Given the description of an element on the screen output the (x, y) to click on. 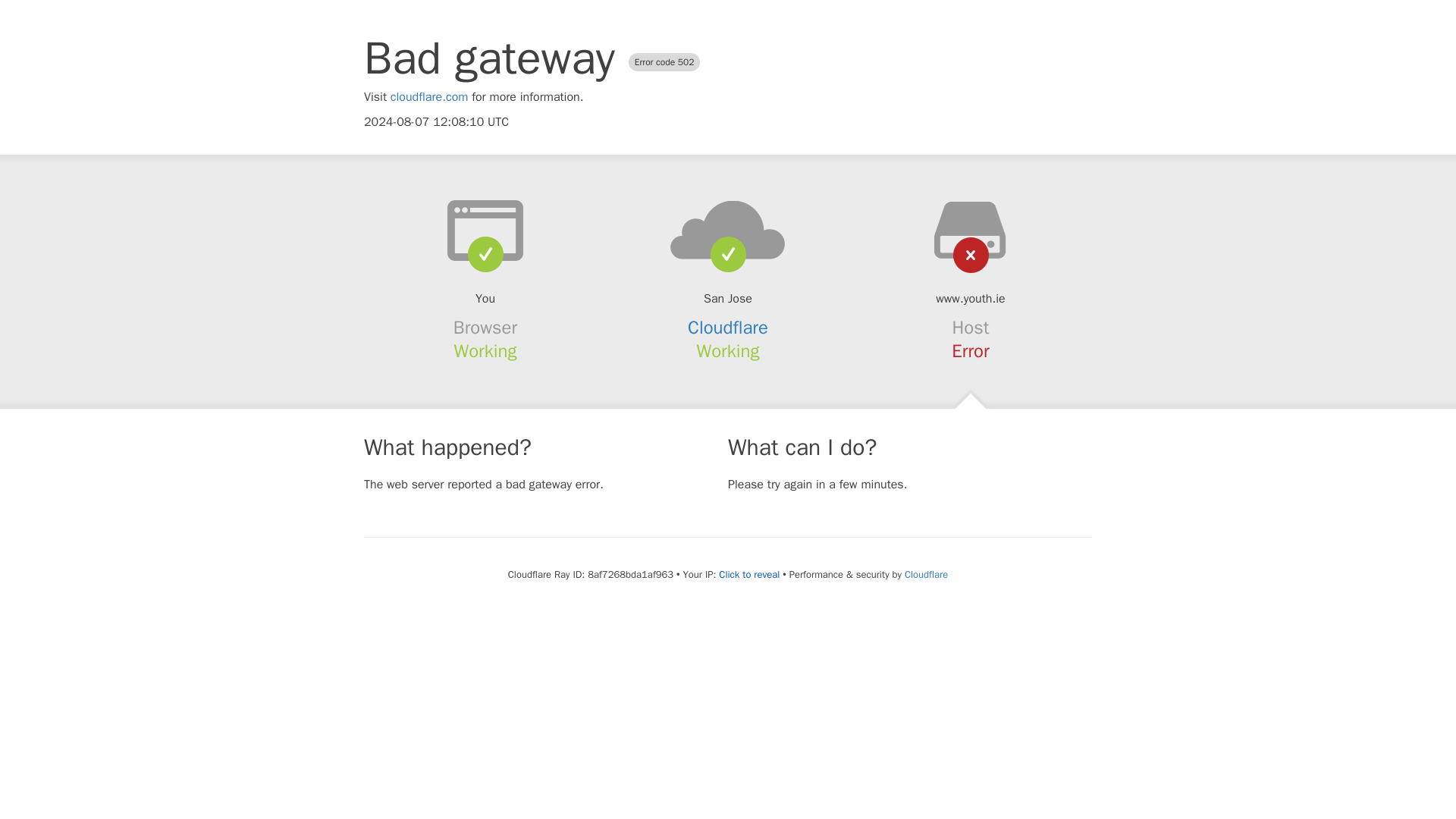
Cloudflare (727, 327)
cloudflare.com (429, 96)
Click to reveal (748, 574)
Cloudflare (925, 574)
